Given the description of an element on the screen output the (x, y) to click on. 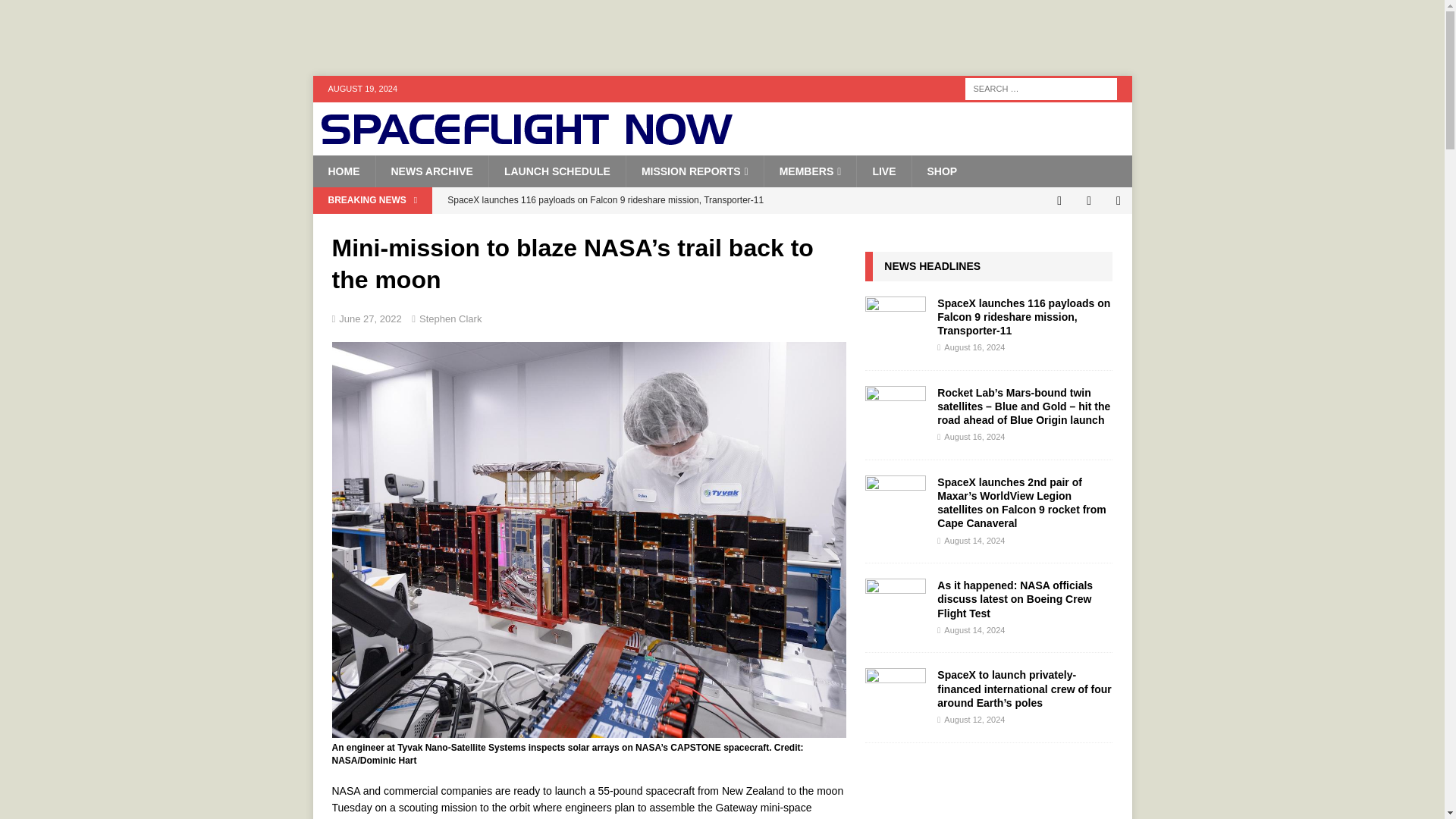
NEWS ARCHIVE (430, 171)
MEMBERS (809, 171)
LAUNCH SCHEDULE (556, 171)
HOME (343, 171)
Search (56, 11)
